Given the description of an element on the screen output the (x, y) to click on. 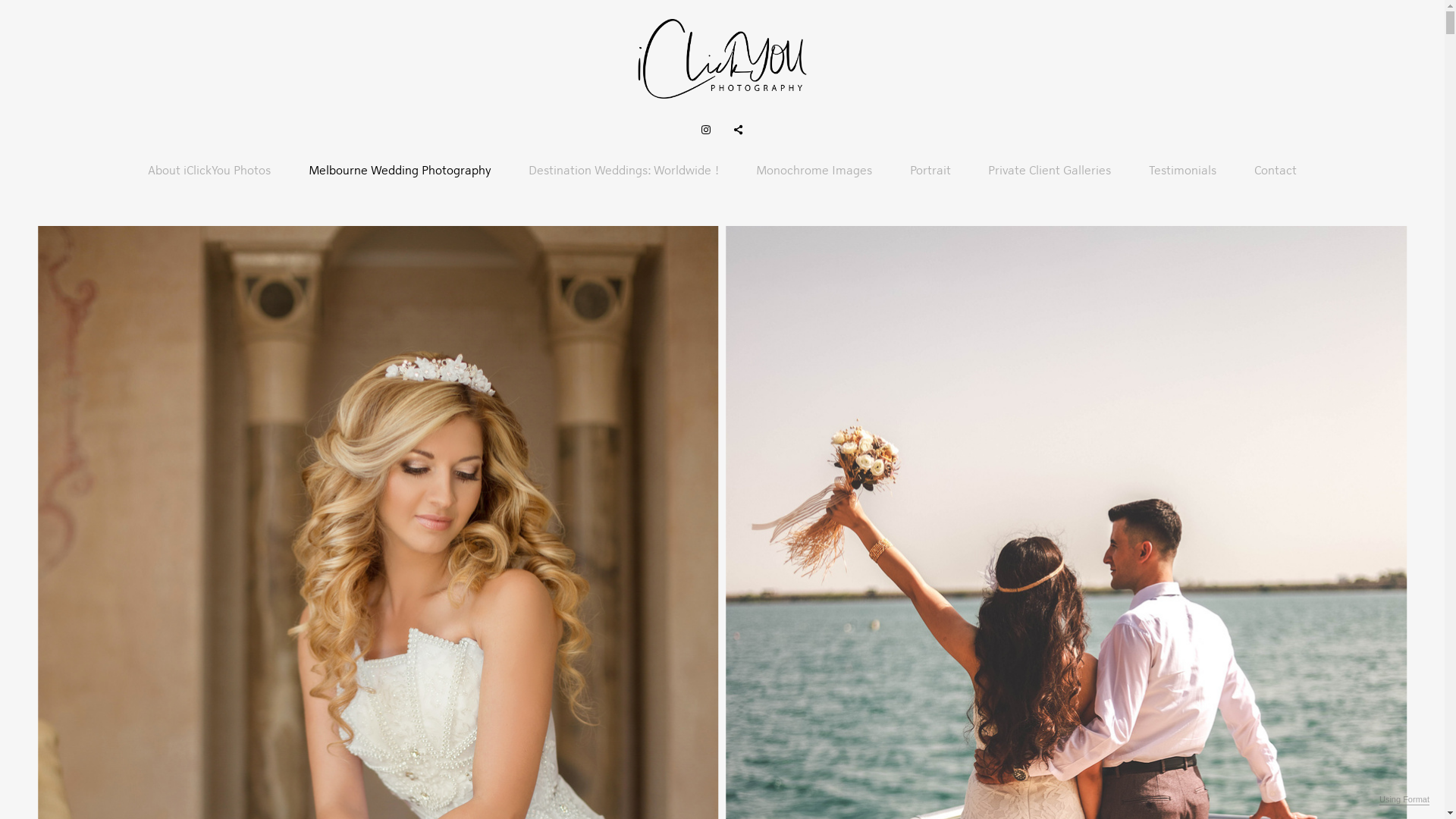
Portrait Element type: text (930, 170)
Testimonials Element type: text (1182, 170)
Destination Weddings: Worldwide ! Element type: text (623, 170)
Contact Element type: text (1275, 170)
Share Element type: hover (738, 130)
Melbourne Wedding Photography Element type: text (399, 171)
Private Client Galleries Element type: text (1049, 170)
Using Format Element type: text (1404, 799)
Monochrome Images Element type: text (814, 170)
About iClickYou Photos Element type: text (208, 170)
Instagram Element type: hover (705, 130)
